Given the description of an element on the screen output the (x, y) to click on. 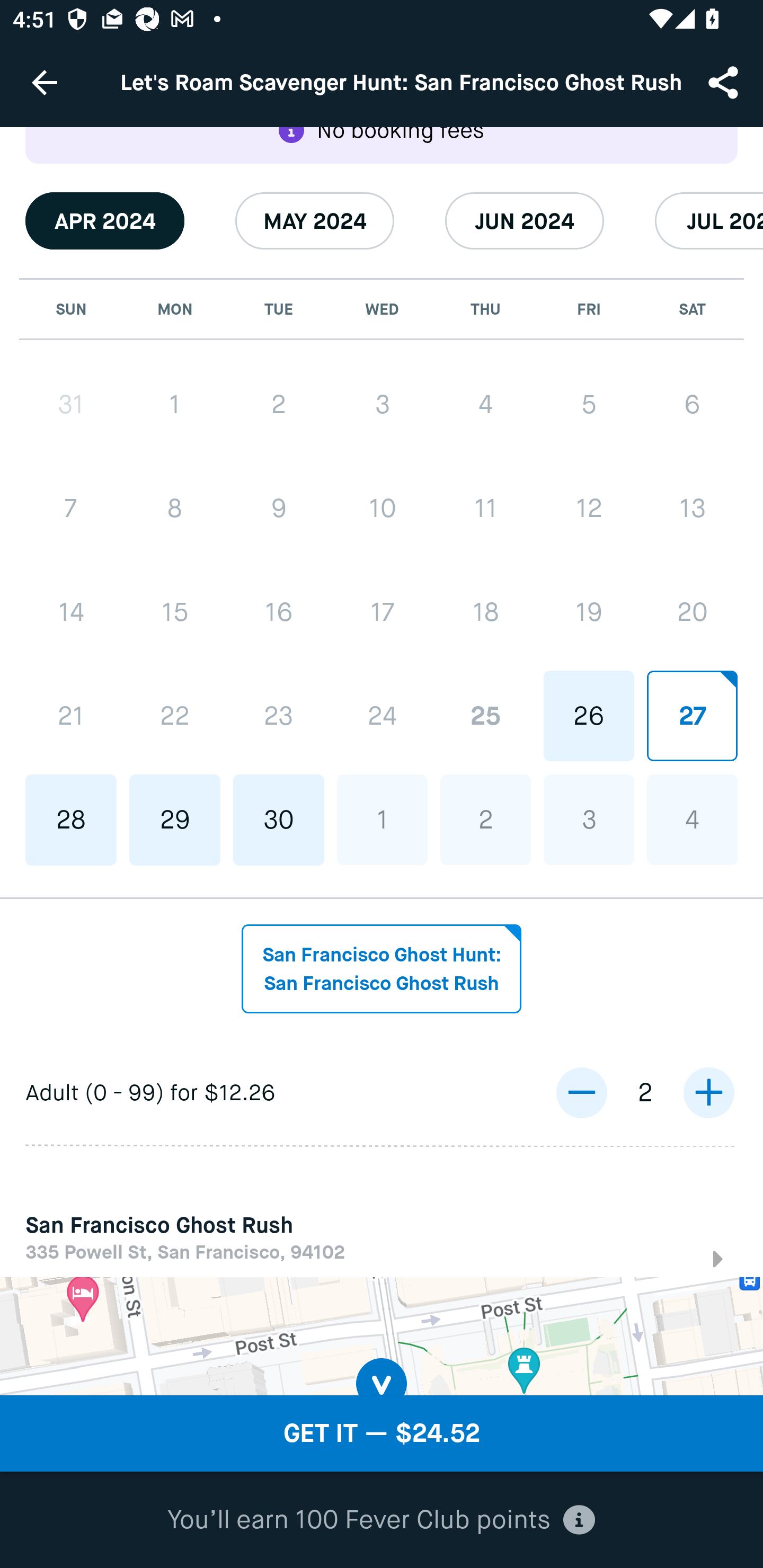
Navigate up (44, 82)
Share (724, 81)
APR 2024 (104, 220)
MAY 2024 (314, 220)
JUN 2024 (524, 220)
JUL 2024 (708, 220)
31 (70, 404)
1 (174, 404)
2 (278, 404)
3 (382, 404)
4 (485, 404)
5 (588, 404)
6 (692, 404)
7 (70, 507)
8 (174, 507)
9 (278, 507)
10 (382, 507)
11 (485, 507)
12 (588, 507)
13 (692, 507)
14 (70, 612)
15 (174, 612)
16 (278, 612)
17 (382, 611)
18 (485, 611)
19 (588, 611)
20 (692, 611)
21 (70, 716)
22 (174, 716)
23 (278, 716)
24 (382, 715)
25 (485, 715)
26 (588, 715)
27 (692, 715)
28 (70, 819)
29 (174, 819)
30 (278, 819)
1 (382, 819)
2 (485, 819)
3 (588, 819)
4 (692, 819)
San Francisco Ghost Hunt: San Francisco Ghost Rush (381, 968)
decrease (581, 1092)
increase (708, 1092)
Google Map Map Marker (381, 1336)
GET IT — $24.52 (381, 1433)
You’ll earn 100 Fever Club points (381, 1519)
